Given the description of an element on the screen output the (x, y) to click on. 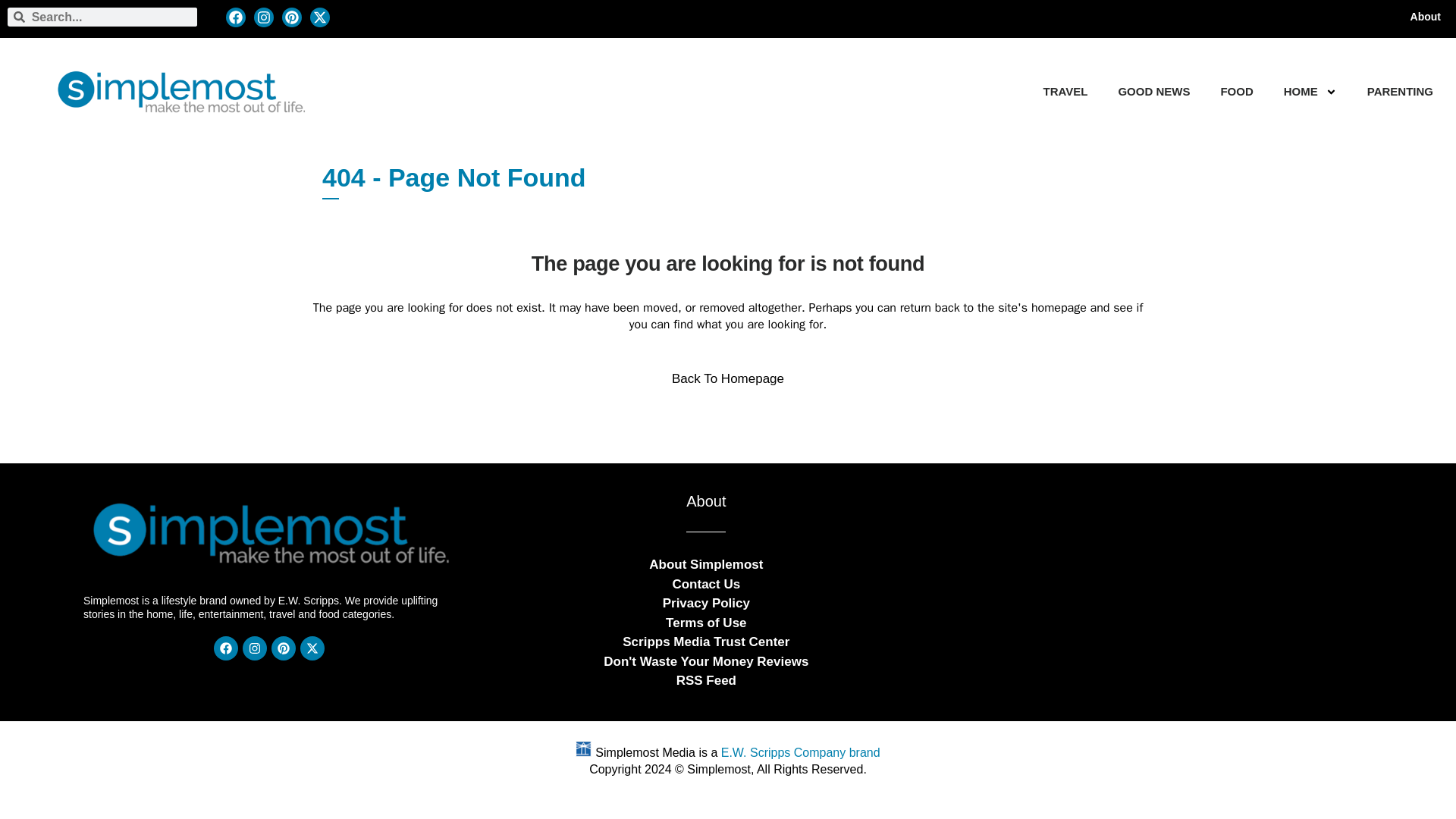
TRAVEL (1065, 91)
Don't Waste Your Money Reviews (706, 661)
Privacy Policy (705, 602)
RSS Feed (706, 680)
About (1425, 16)
Scripps Media Trust Center (706, 641)
Contact Us (705, 584)
FOOD (1236, 91)
E.W. Scripps Company brand (800, 752)
About Simplemost (705, 564)
